Given the description of an element on the screen output the (x, y) to click on. 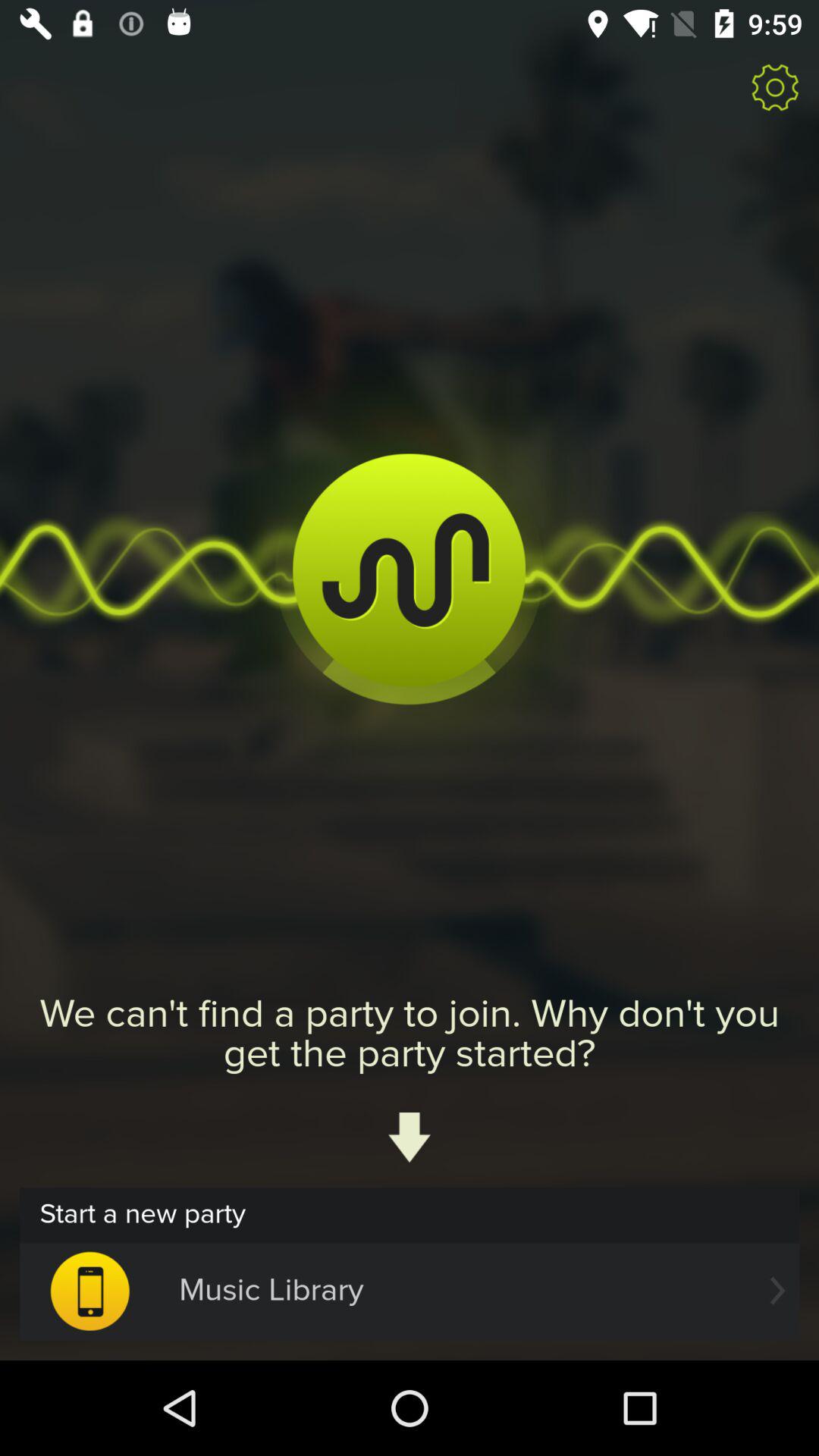
launch the icon at the top right corner (775, 87)
